Given the description of an element on the screen output the (x, y) to click on. 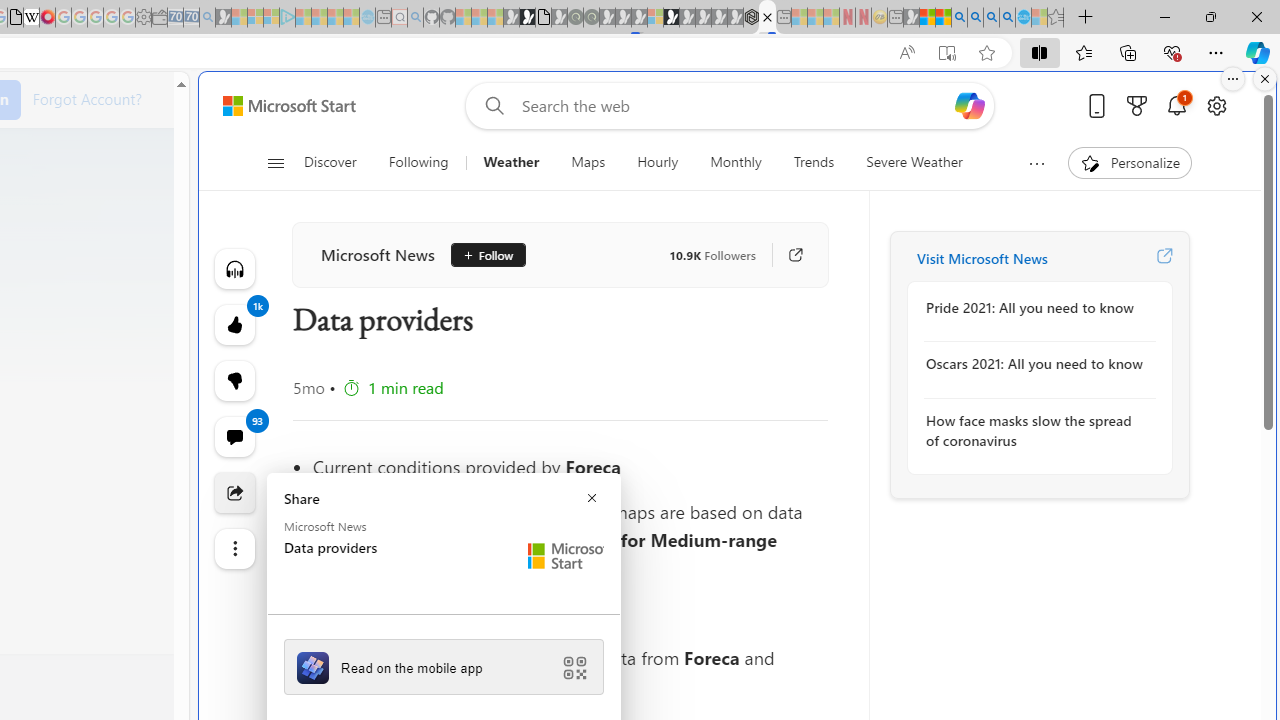
Favorites - Sleeping (1055, 17)
Future Focus Report 2024 - Sleeping (591, 17)
Severe Weather (914, 162)
Oscars 2021: All you need to know (1034, 364)
Pride 2021: All you need to know (1034, 308)
Show more topics (1036, 163)
